Given the description of an element on the screen output the (x, y) to click on. 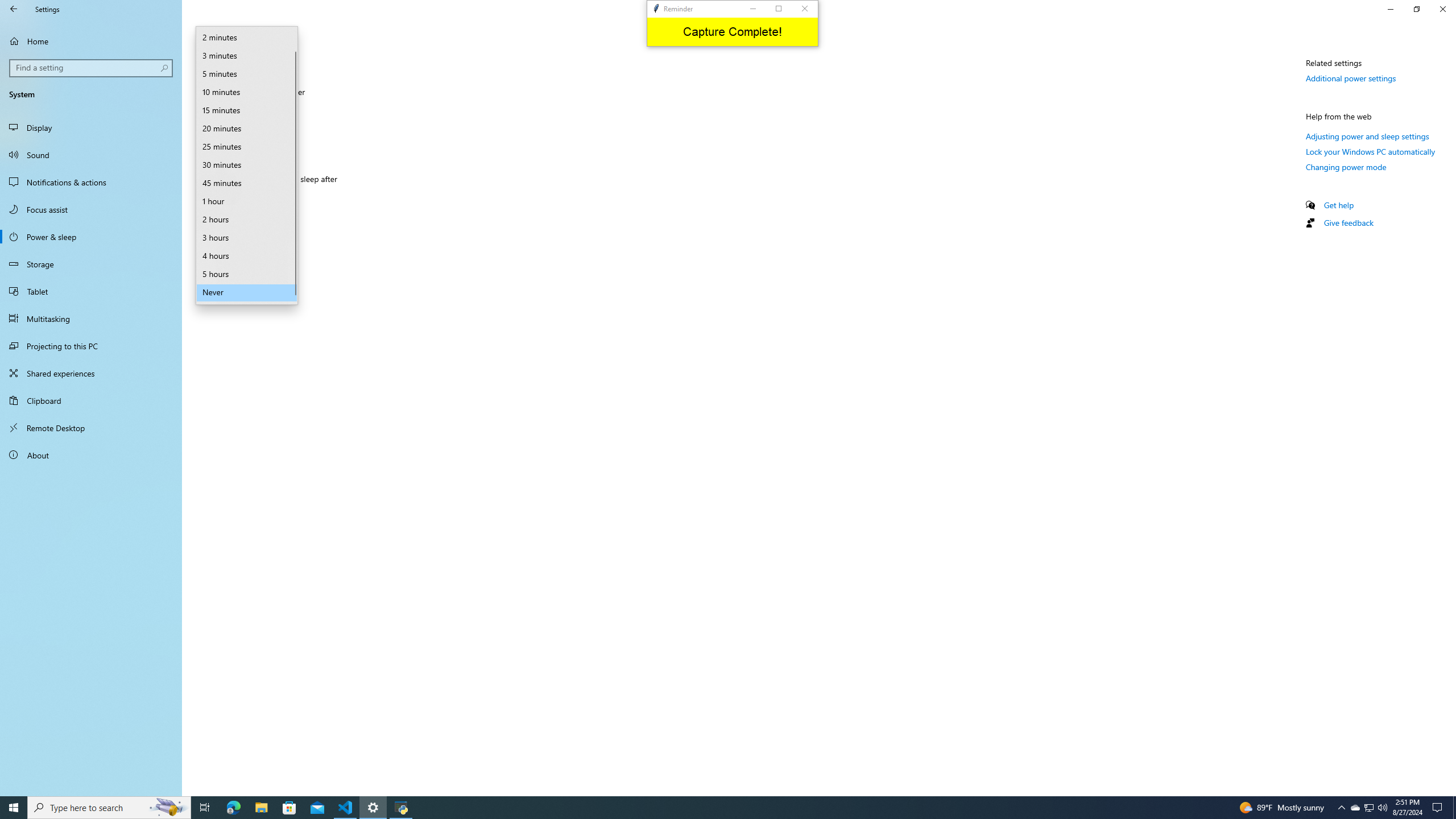
Give feedback (1348, 222)
Tablet (91, 290)
Running applications (717, 807)
About (91, 454)
30 minutes (246, 165)
25 minutes (246, 147)
Additional power settings (1351, 77)
Shared experiences (91, 372)
3 hours (246, 238)
